Given the description of an element on the screen output the (x, y) to click on. 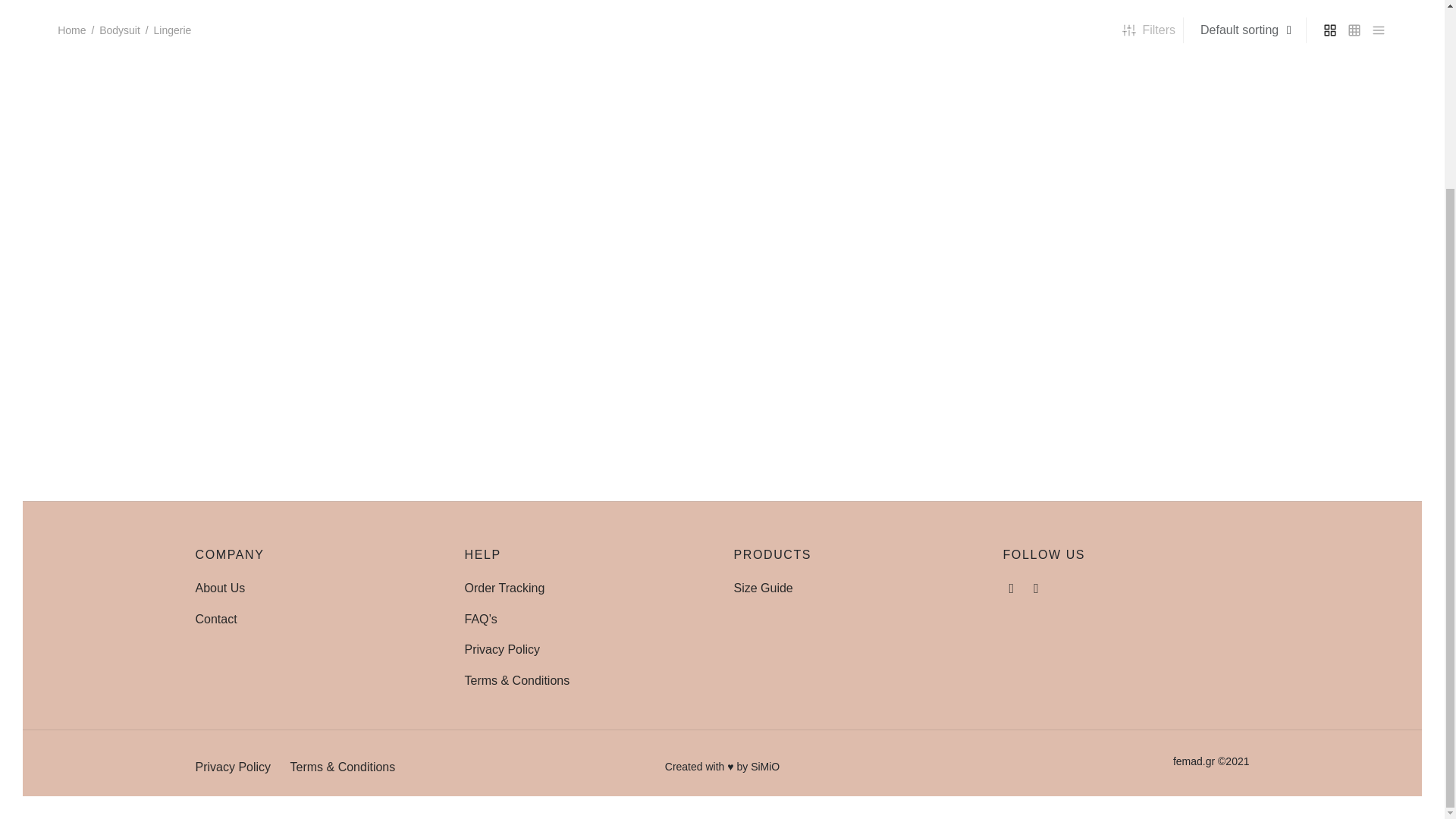
Home (71, 30)
About Us (220, 588)
Order Tracking (504, 588)
Privacy Policy (502, 649)
Bodysuit (119, 30)
Filters (1148, 30)
Contact (216, 618)
